Given the description of an element on the screen output the (x, y) to click on. 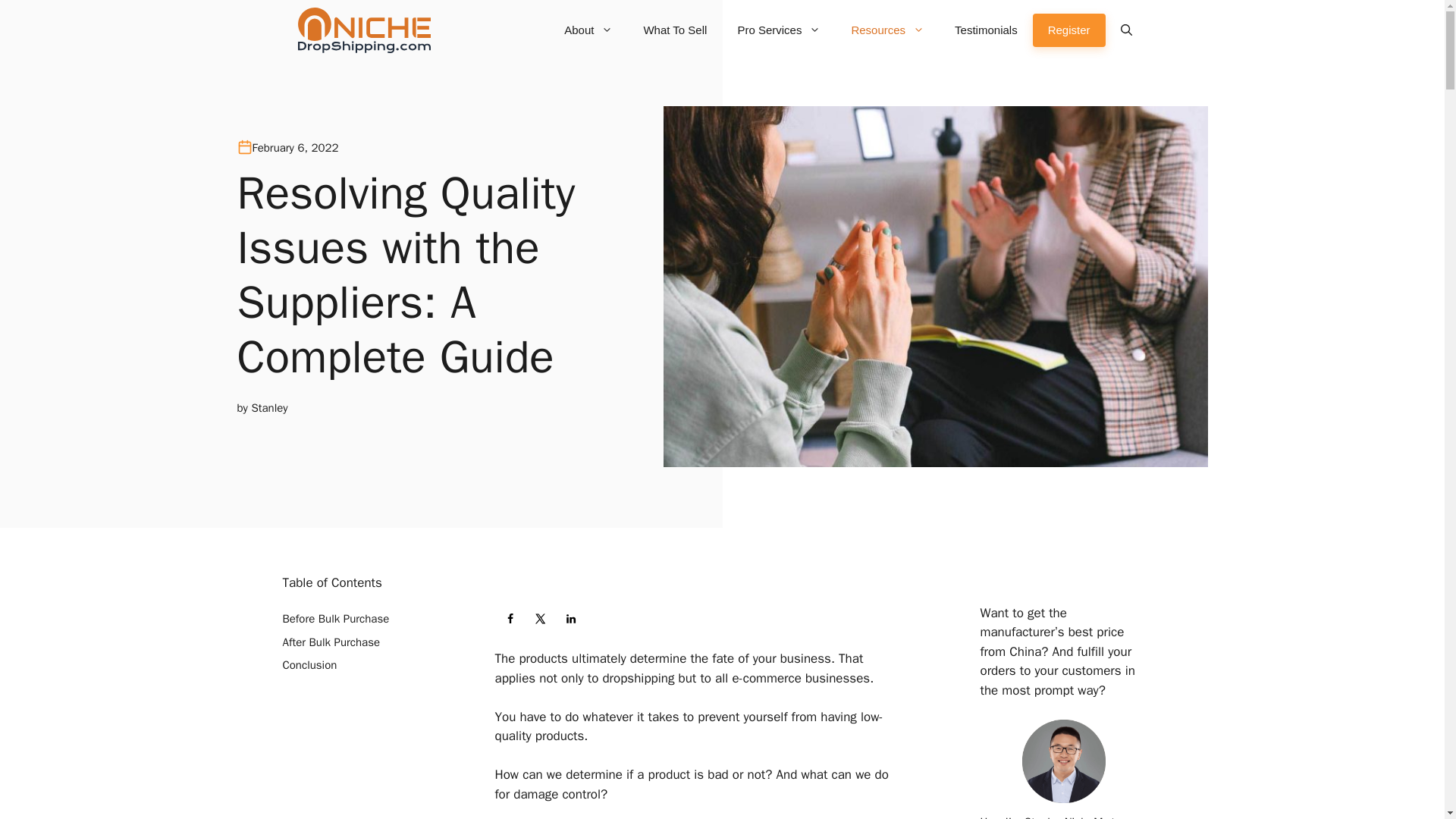
Share on Facebook (509, 618)
Pro Services (778, 30)
Share on X (539, 618)
What To Sell (674, 30)
About (587, 30)
Resources (887, 30)
Share on LinkedIn (569, 618)
